Given the description of an element on the screen output the (x, y) to click on. 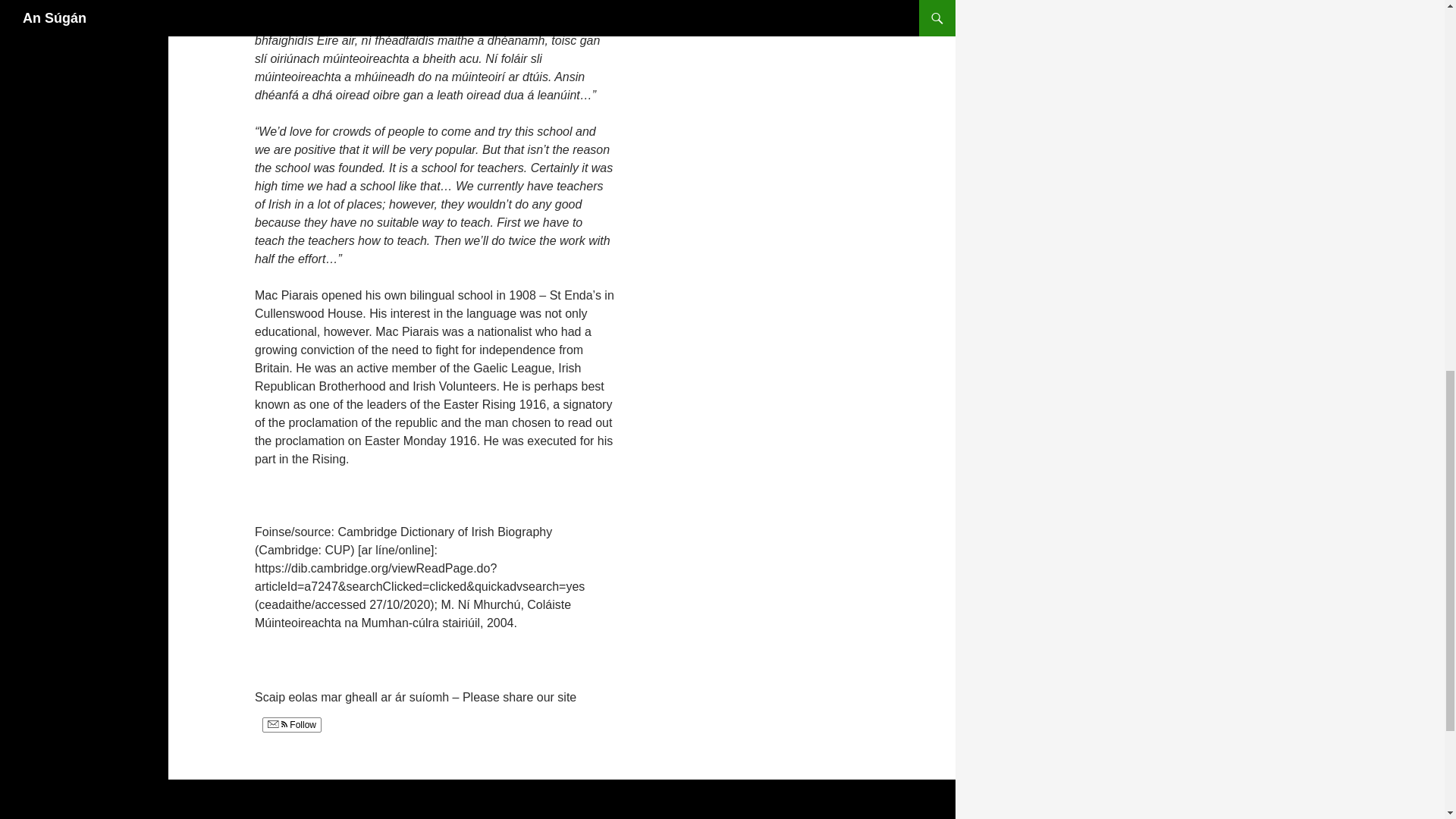
Follow (291, 724)
Email, RSS (276, 725)
